Given the description of an element on the screen output the (x, y) to click on. 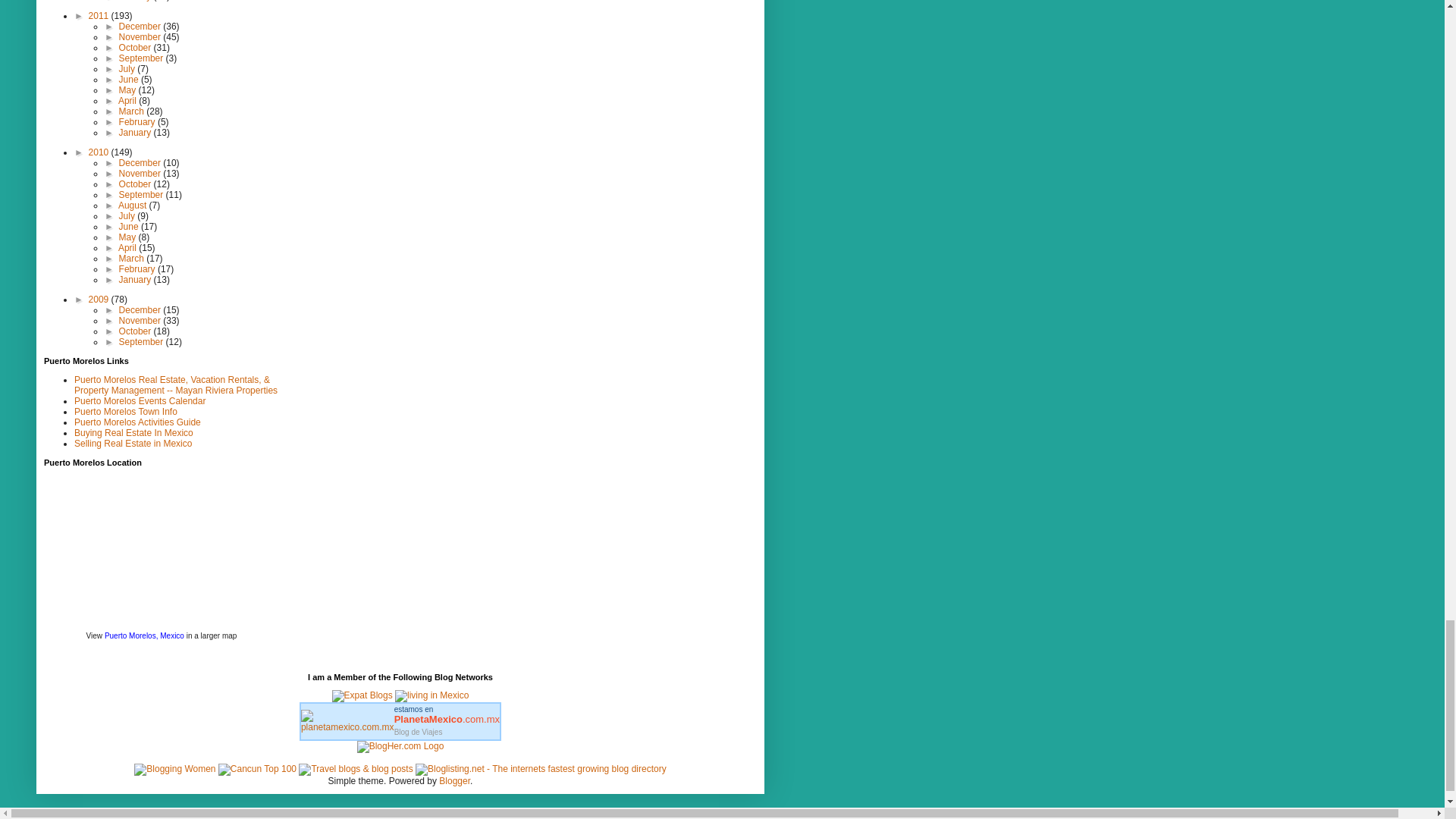
living in Mexico (431, 695)
Blog de Viajes (418, 732)
BlogHer.com (400, 746)
Blog de Viajes (446, 714)
